Given the description of an element on the screen output the (x, y) to click on. 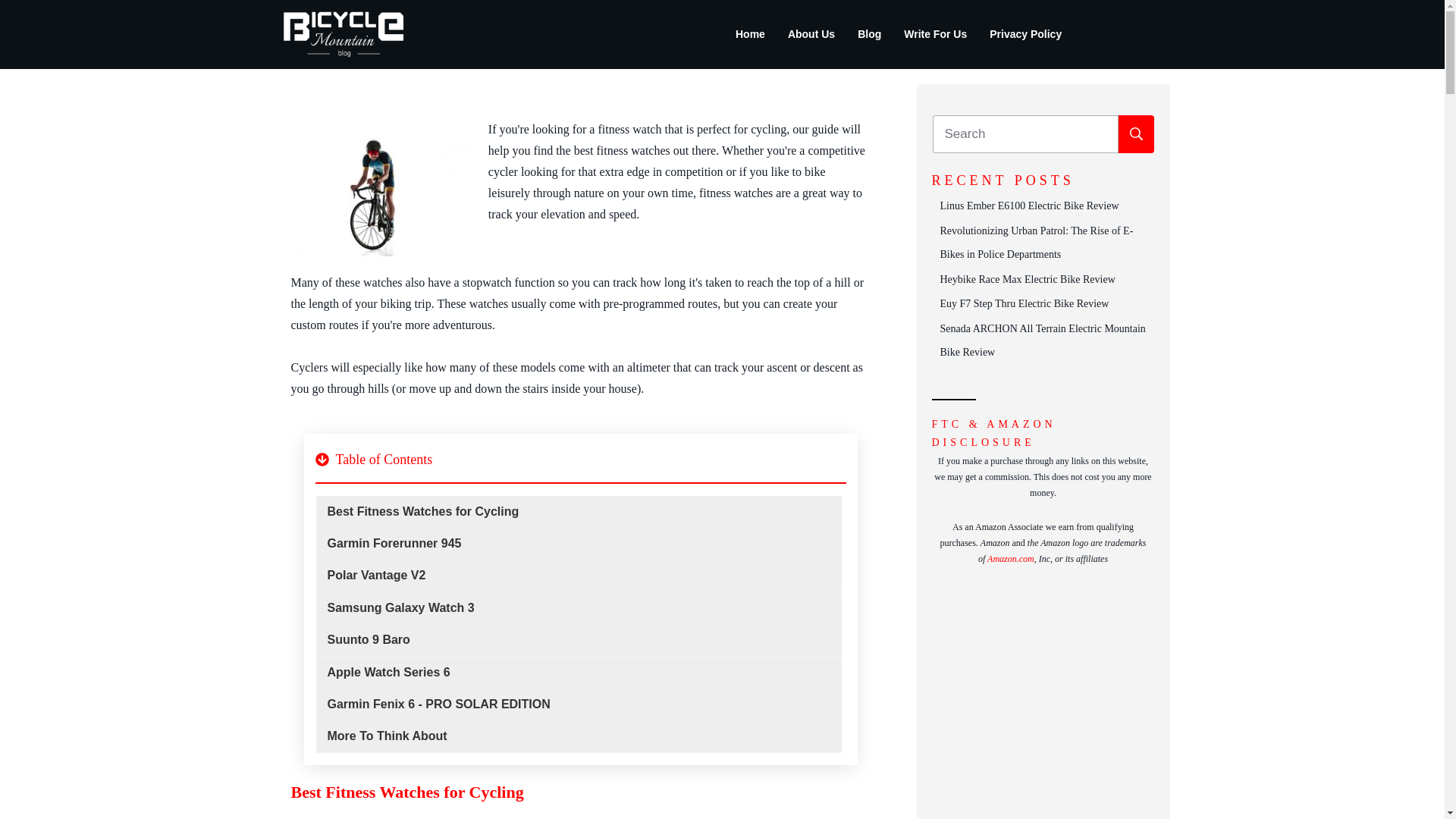
About Us (810, 34)
More To Think About (386, 736)
cycler-with-fitness-watch (382, 194)
Write For Us (935, 34)
Senada ARCHON All Terrain Electric Mountain Bike Review (1042, 340)
Apple Watch Series 6 (388, 672)
Garmin Forerunner 945 (394, 543)
Samsung Galaxy Watch 3 (400, 607)
Linus Ember E6100 Electric Bike Review (1029, 205)
Best Fitness Watches for Cycling (423, 511)
More To Think About (386, 736)
Garmin Fenix 6 - PRO SOLAR EDITION (438, 704)
Home (750, 34)
